Given the description of an element on the screen output the (x, y) to click on. 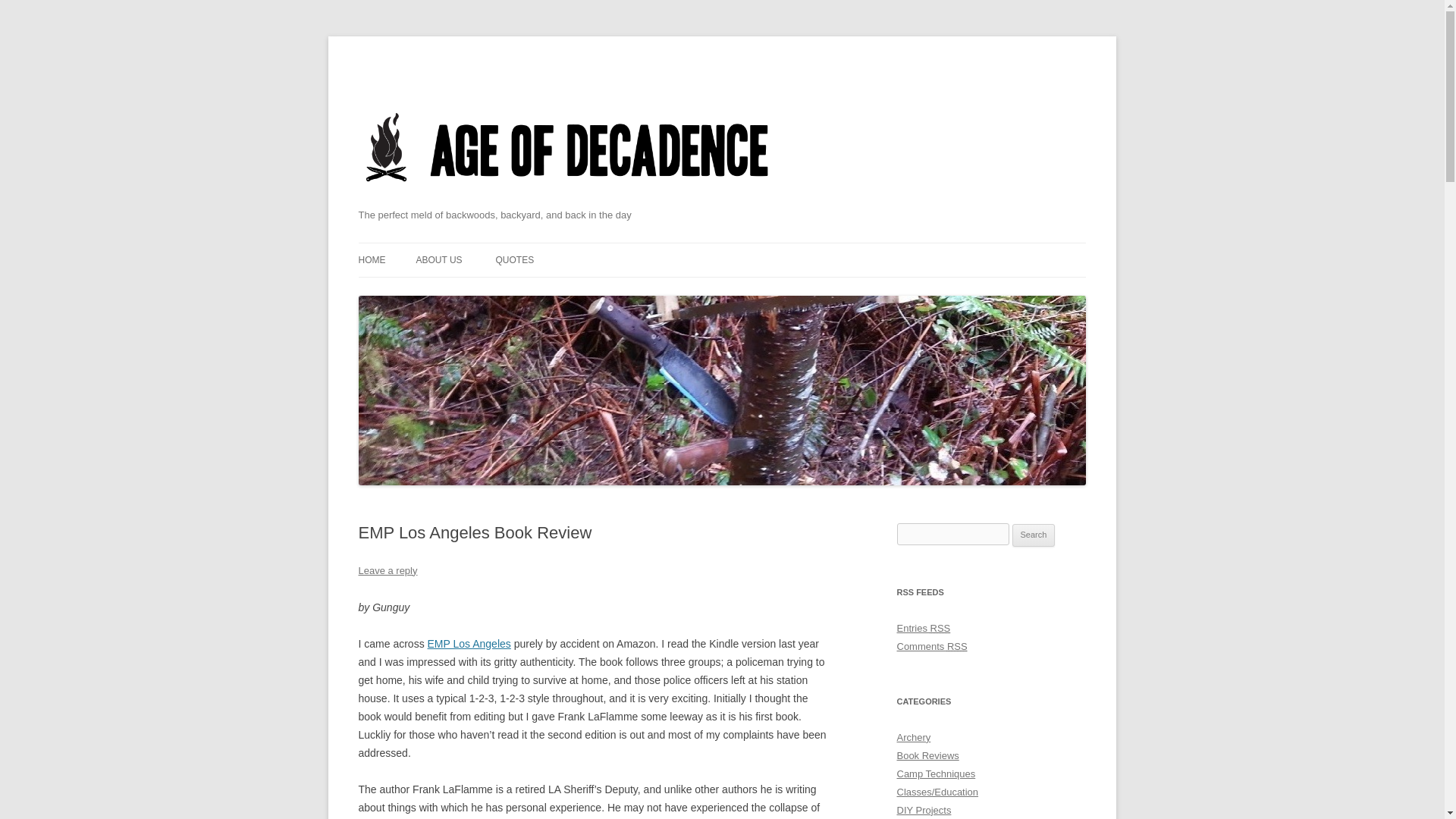
The Age of Decadence (567, 200)
Skip to content (757, 247)
About Me (437, 259)
Camp Techniques (935, 773)
ABOUT US (437, 259)
DIY Projects (923, 809)
EMP Los Angeles (469, 644)
Anything related to archery. (913, 737)
Entries RSS (923, 627)
Skip to content (757, 247)
Really Simple Syndication (940, 627)
QUOTES (514, 259)
Comments RSS (931, 645)
Book Reviews (927, 755)
Really Simple Syndication (957, 645)
